Given the description of an element on the screen output the (x, y) to click on. 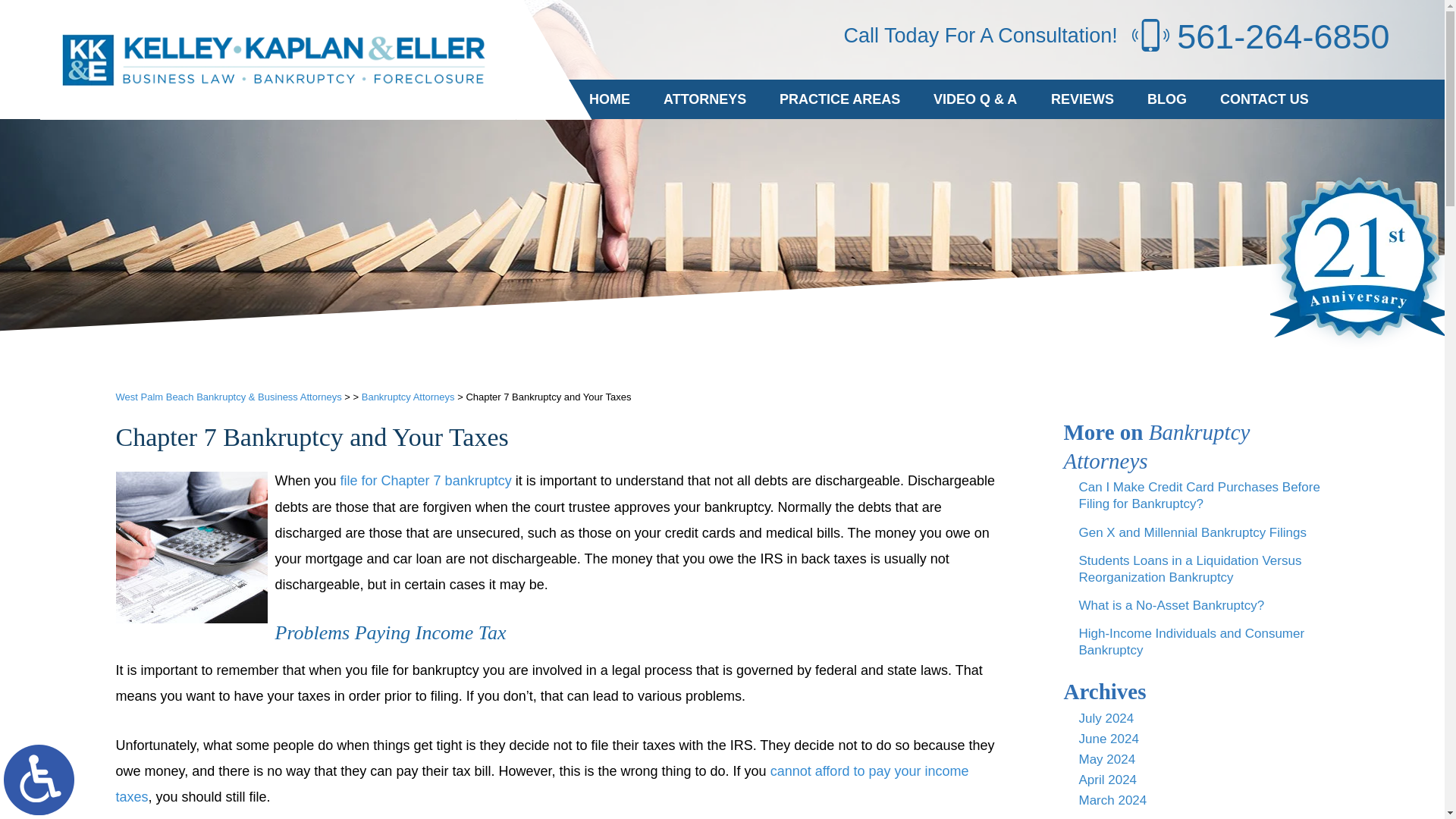
KELLEY-Chapter-7-and-Taxes-300x200 (190, 547)
PRACTICE AREAS (839, 98)
HOME (609, 98)
ATTORNEYS (703, 98)
